Given the description of an element on the screen output the (x, y) to click on. 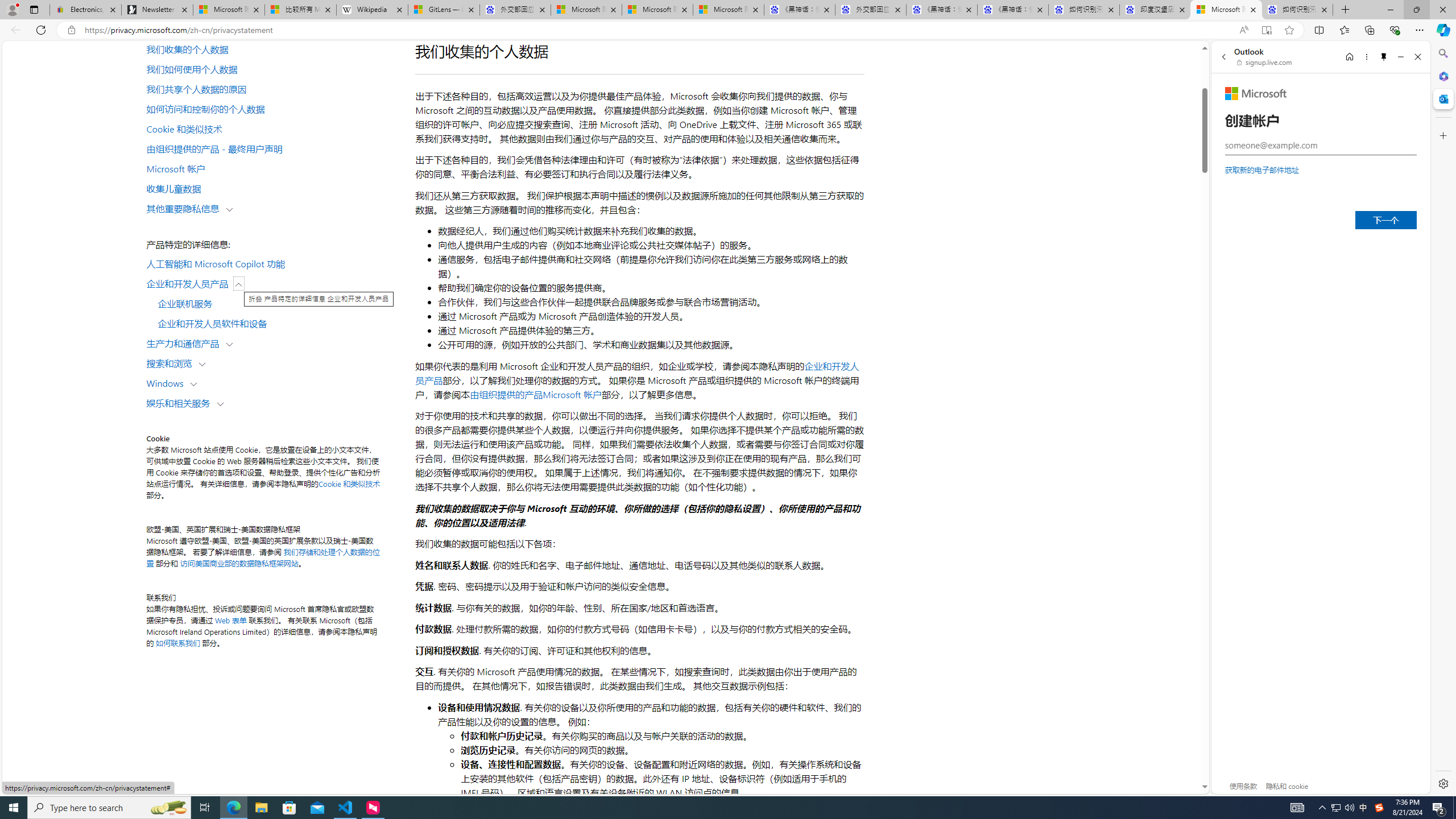
Side bar (1443, 418)
